Given the description of an element on the screen output the (x, y) to click on. 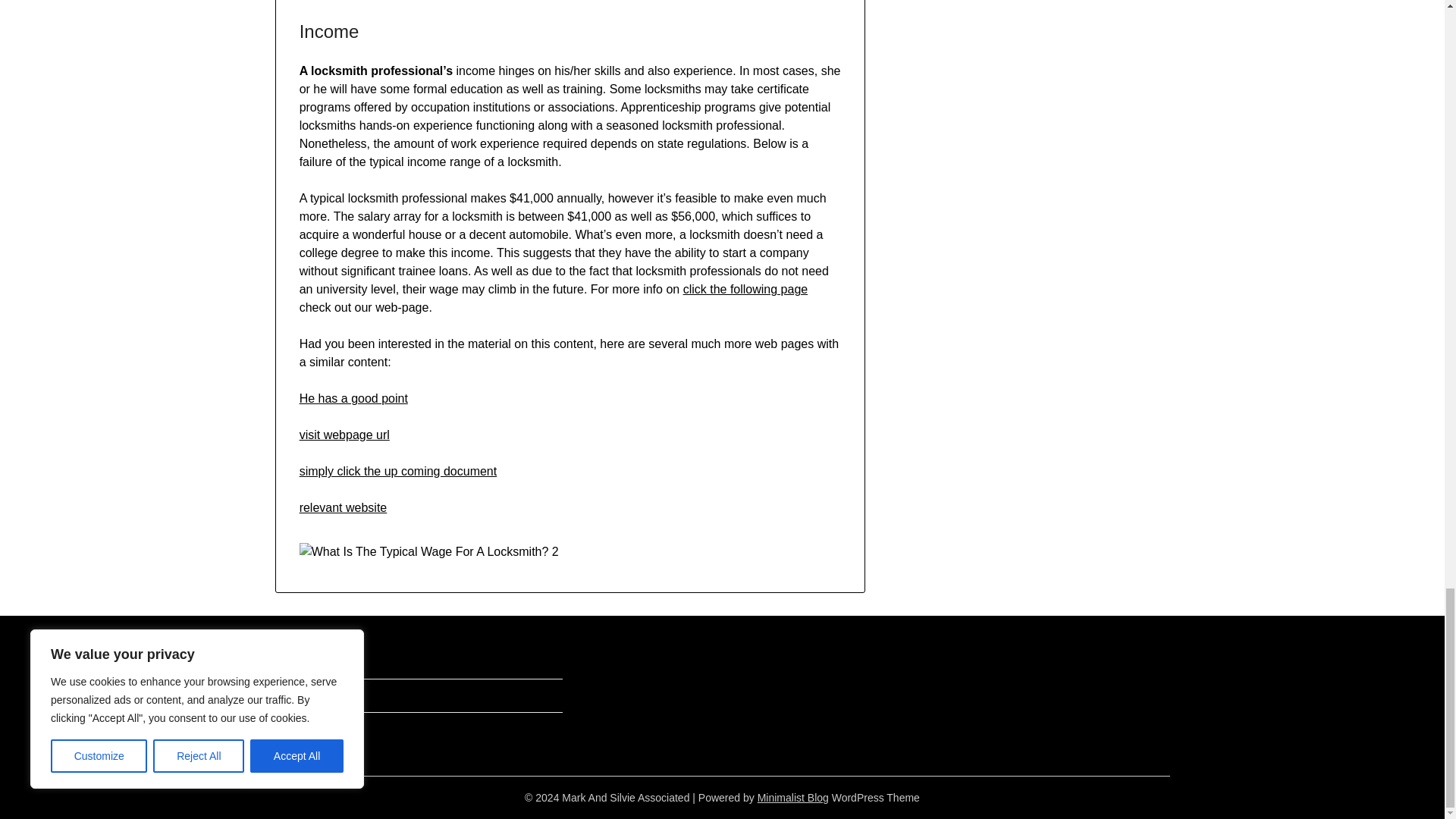
relevant website (343, 507)
He has a good point (353, 398)
visit webpage url (344, 434)
click the following page (745, 288)
simply click the up coming document (398, 471)
